Given the description of an element on the screen output the (x, y) to click on. 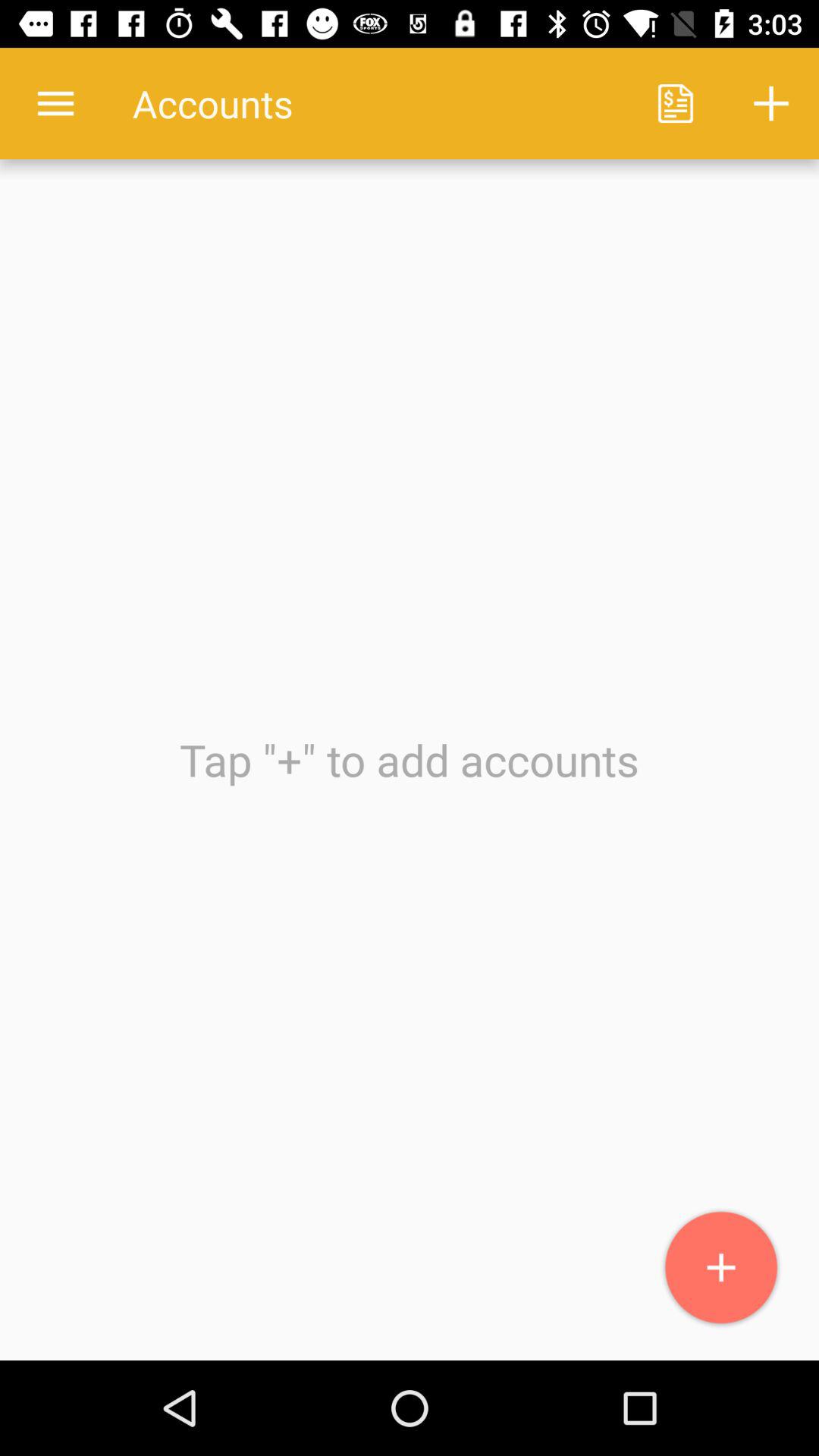
turn off icon at the bottom right corner (721, 1268)
